Given the description of an element on the screen output the (x, y) to click on. 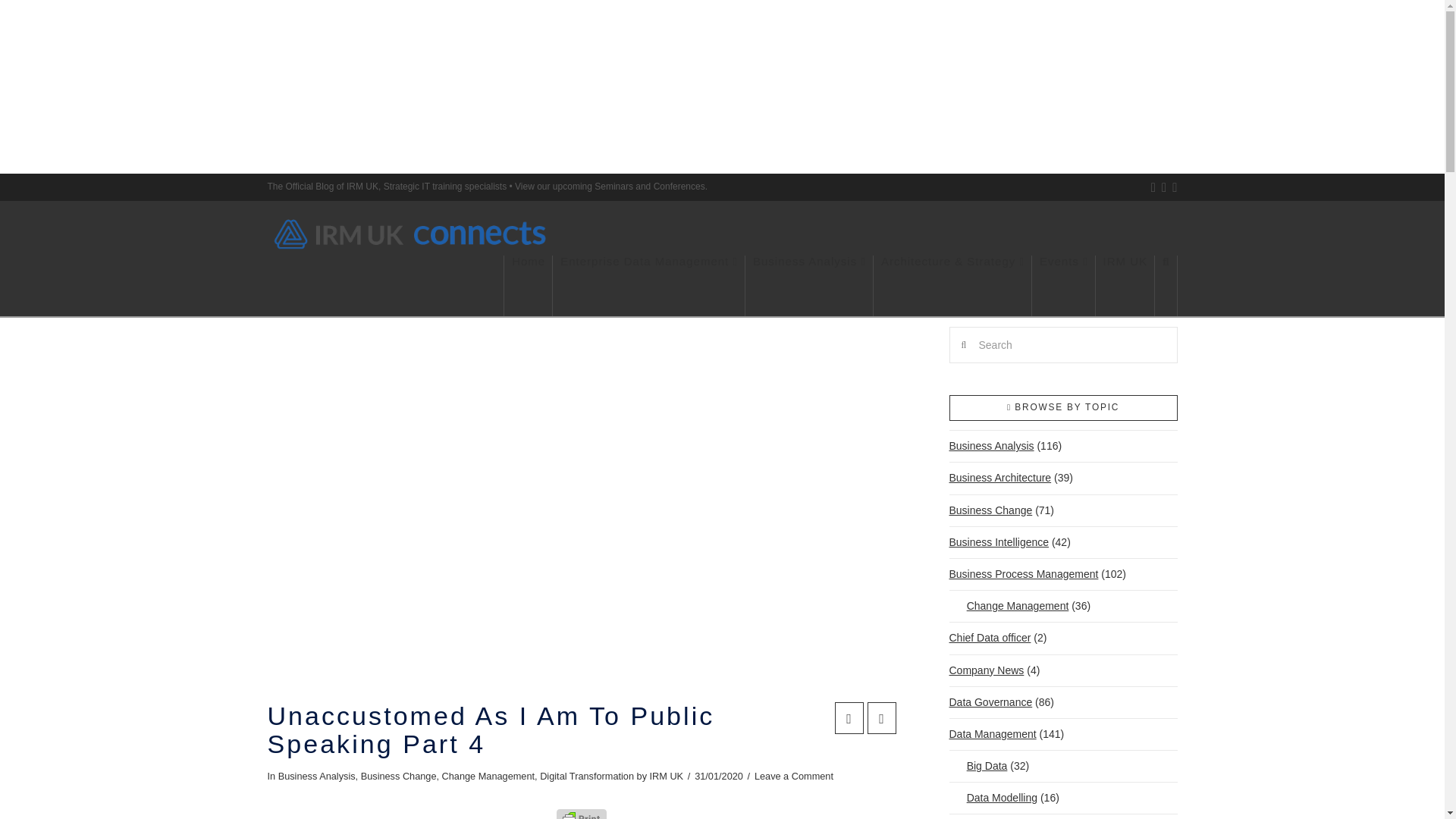
Business Architecture (1000, 477)
IT Seminars London (613, 185)
You Are Here (182, 281)
IT Conferences London (678, 185)
Strategic IT training specialists (362, 185)
Business Analysis (991, 445)
